Given the description of an element on the screen output the (x, y) to click on. 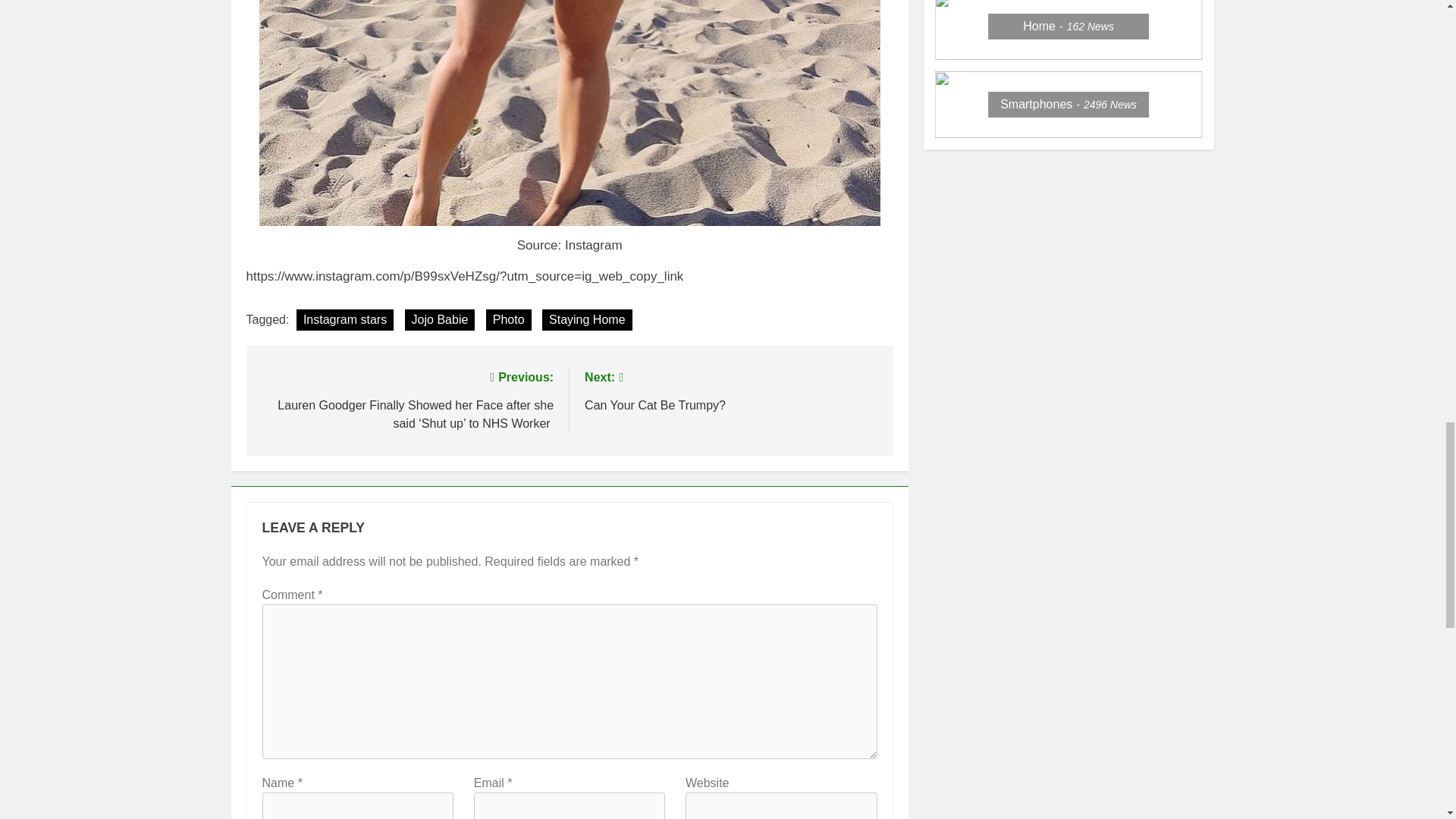
Photo (508, 319)
Staying Home (586, 319)
Instagram stars (345, 319)
Jojo Babie (731, 389)
